Given the description of an element on the screen output the (x, y) to click on. 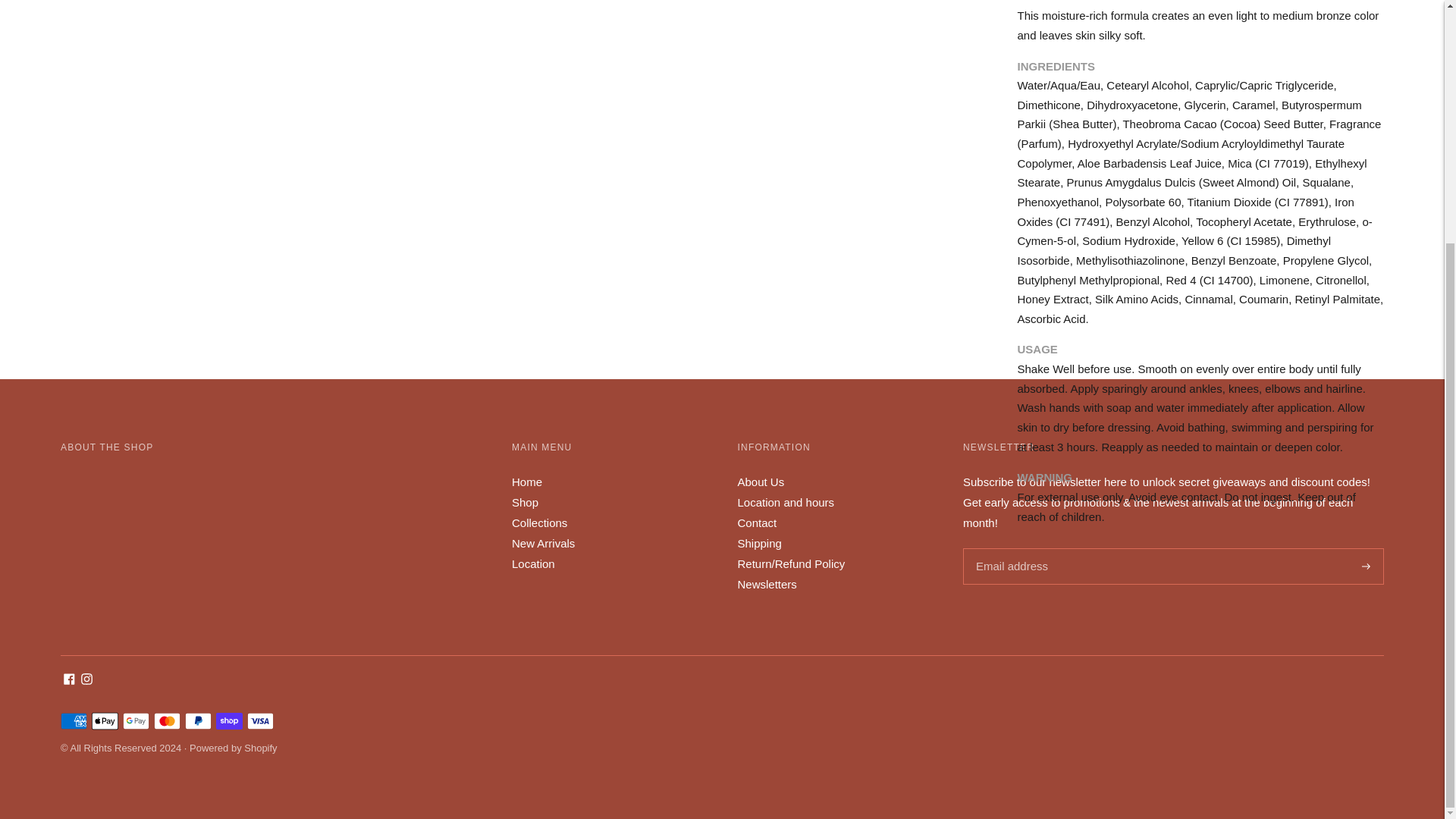
YS Beauty Supply on Instagram (87, 680)
Shop Pay (229, 720)
Visa (260, 720)
YS Beauty Supply on Facebook (69, 680)
American Express (74, 720)
PayPal (197, 720)
Google Pay (135, 720)
Mastercard (167, 720)
Apple Pay (104, 720)
